Given the description of an element on the screen output the (x, y) to click on. 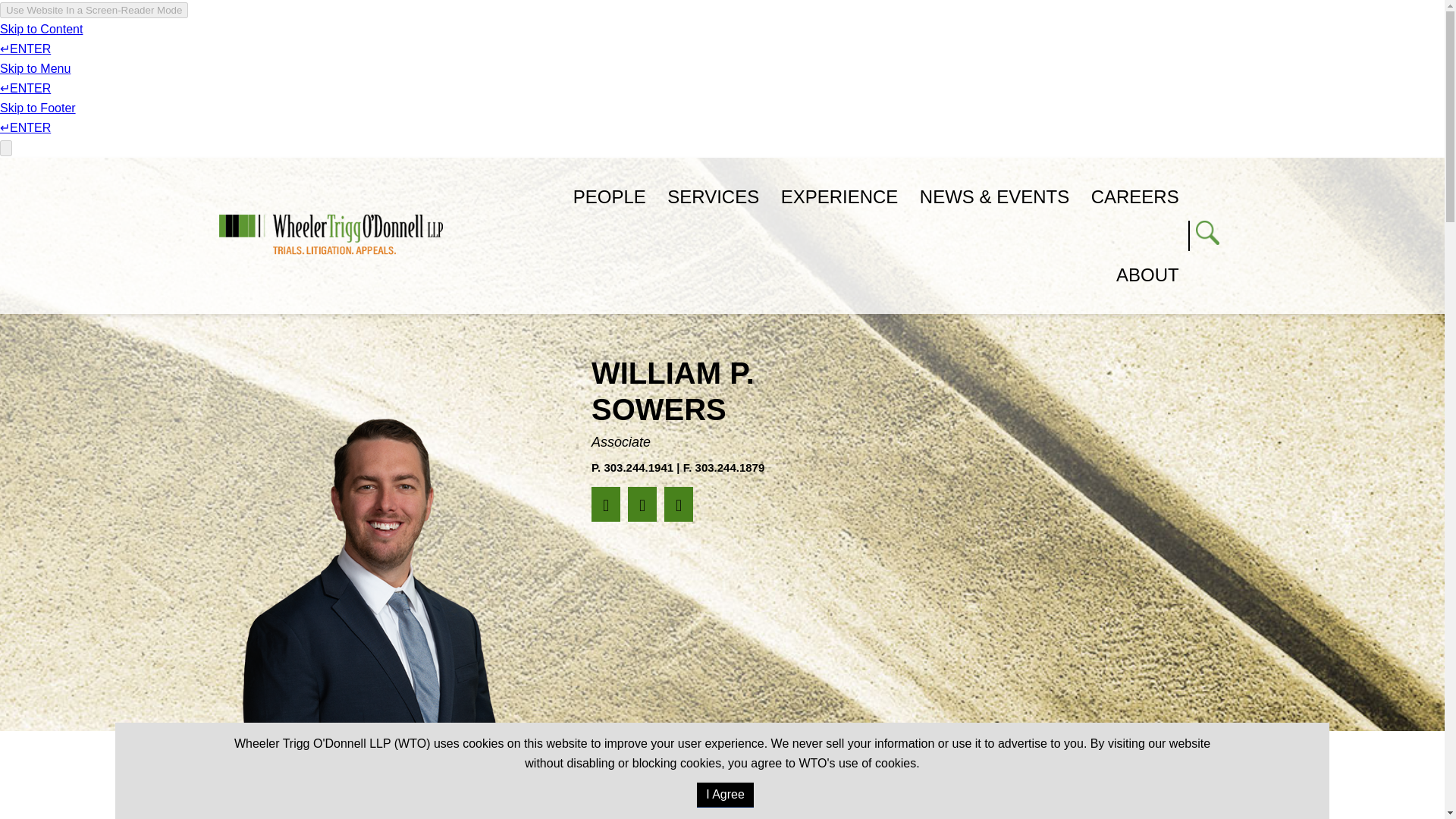
ABOUT (1147, 274)
